Given the description of an element on the screen output the (x, y) to click on. 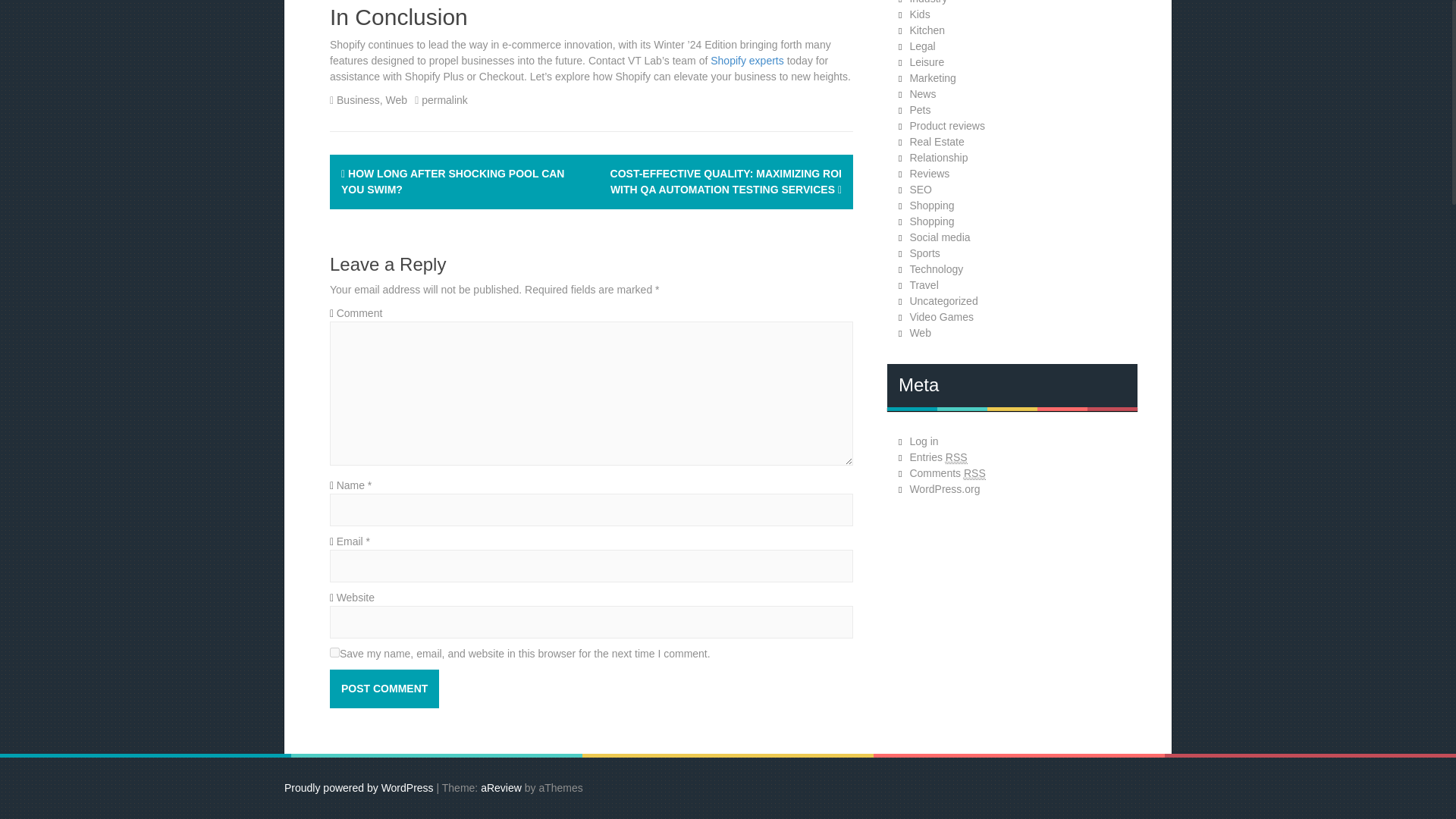
Post Comment (384, 688)
